Given the description of an element on the screen output the (x, y) to click on. 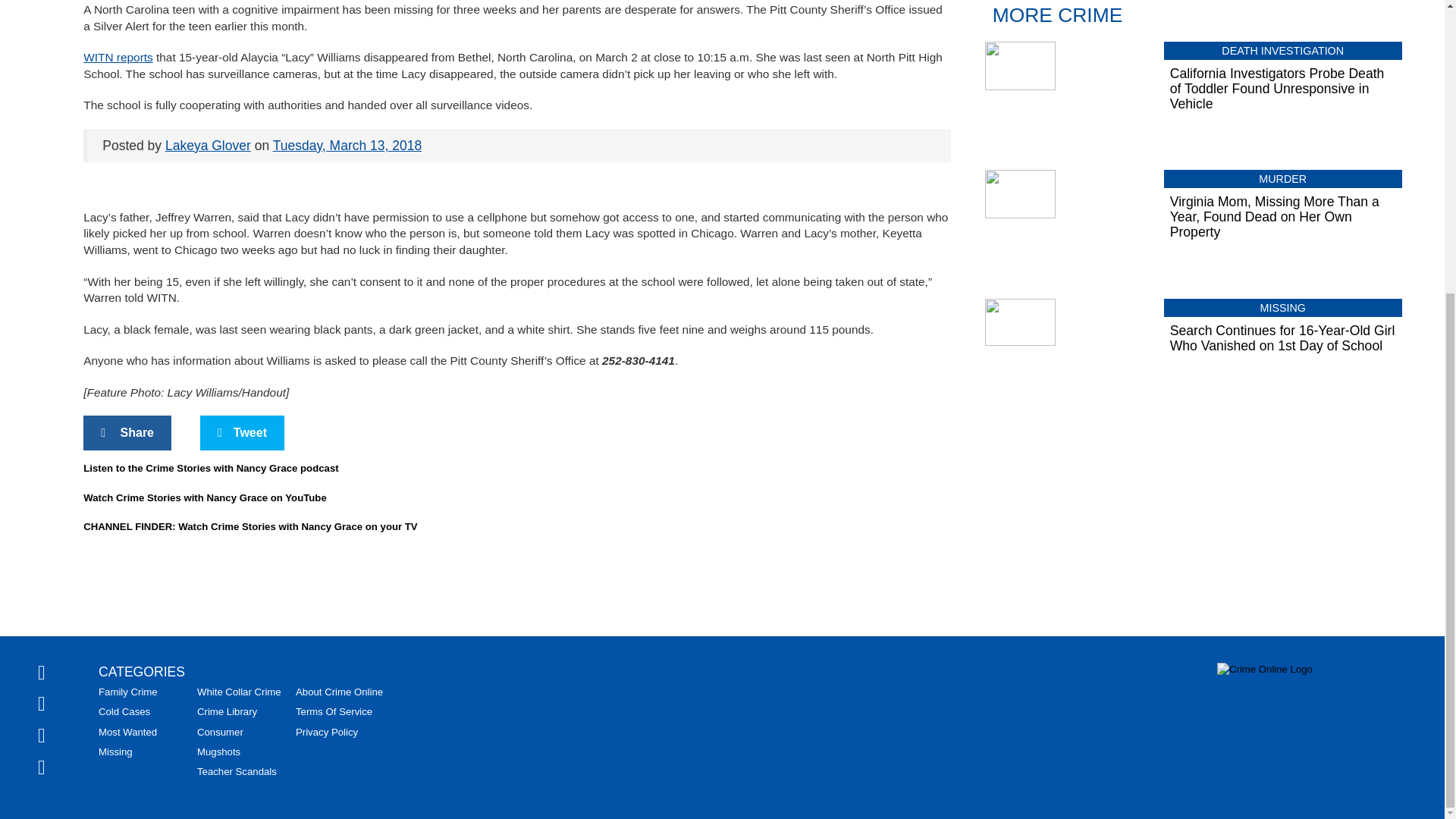
Listen to the Crime Stories with Nancy Grace podcast (209, 468)
WITN reports (117, 56)
Share (126, 432)
Tuesday, March 13, 2018 (347, 145)
Watch Crime Stories with Nancy Grace on YouTube (204, 497)
Lakeya Glover (207, 145)
Tweet (241, 432)
